Given the description of an element on the screen output the (x, y) to click on. 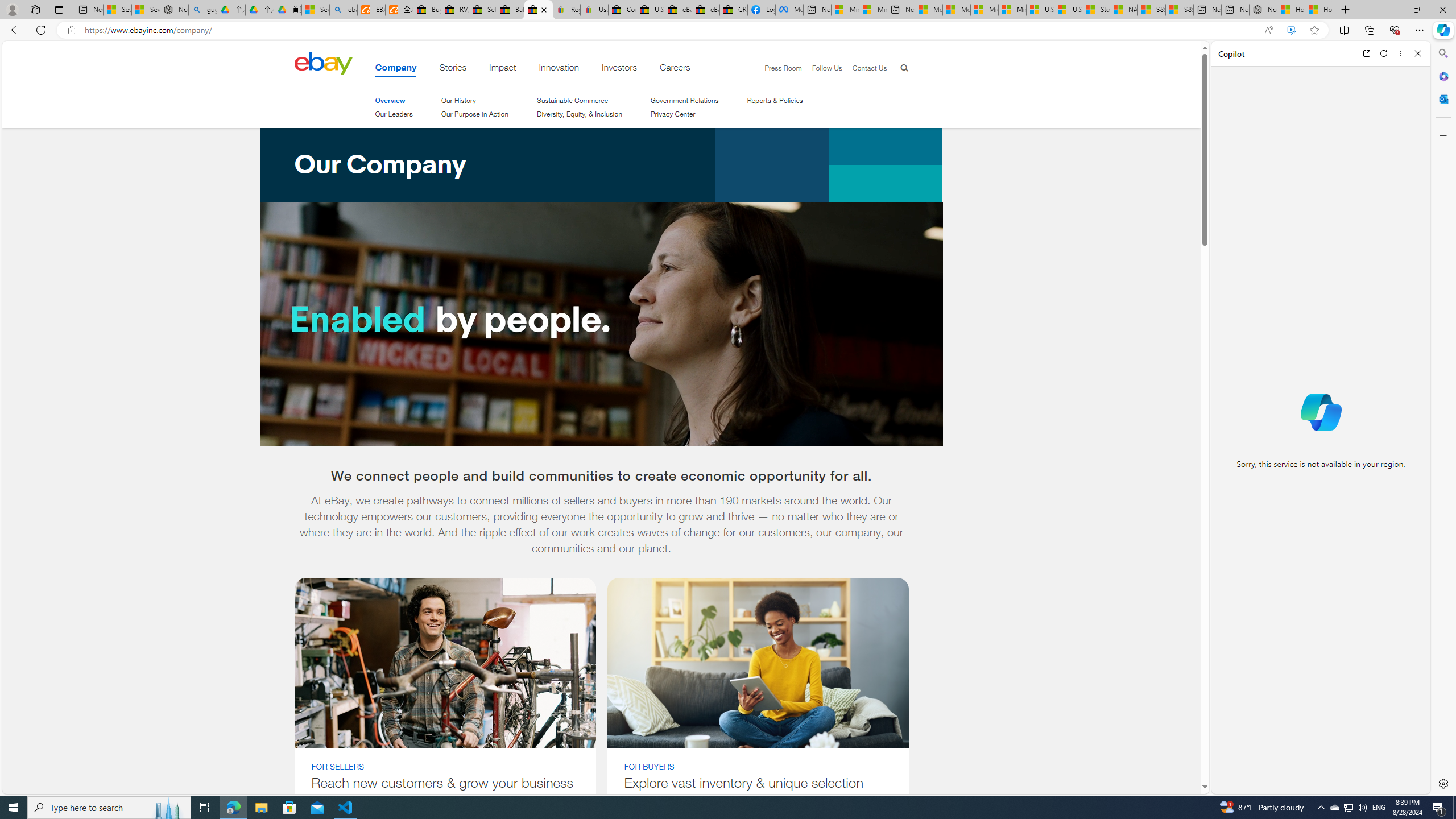
Microsoft account | Privacy (872, 9)
Government Relations (684, 99)
Microsoft 365 (1442, 76)
Our History (474, 100)
Press Room (783, 67)
Home (323, 63)
Our History (458, 99)
Our Purpose in Action (474, 113)
Our Company - eBay Inc. (538, 9)
